Given the description of an element on the screen output the (x, y) to click on. 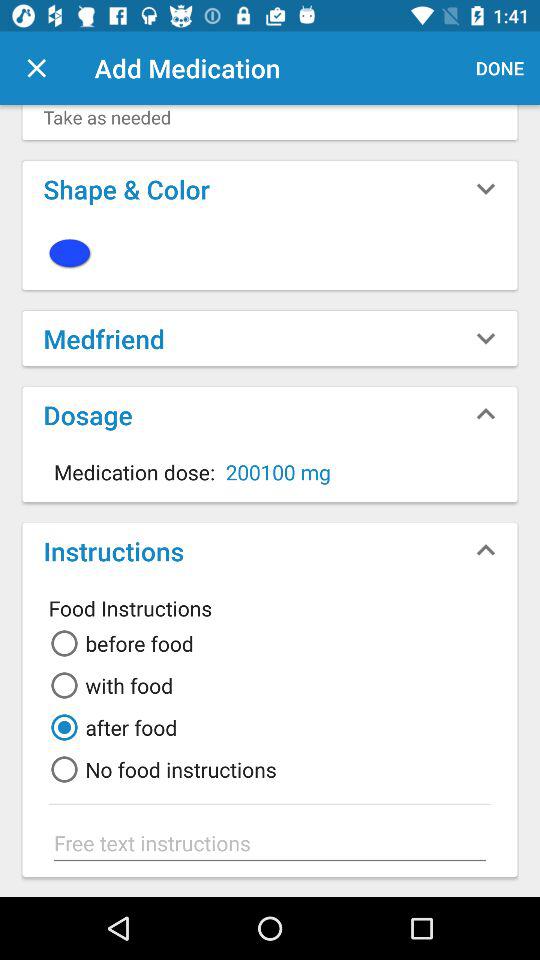
go to type (269, 843)
